Given the description of an element on the screen output the (x, y) to click on. 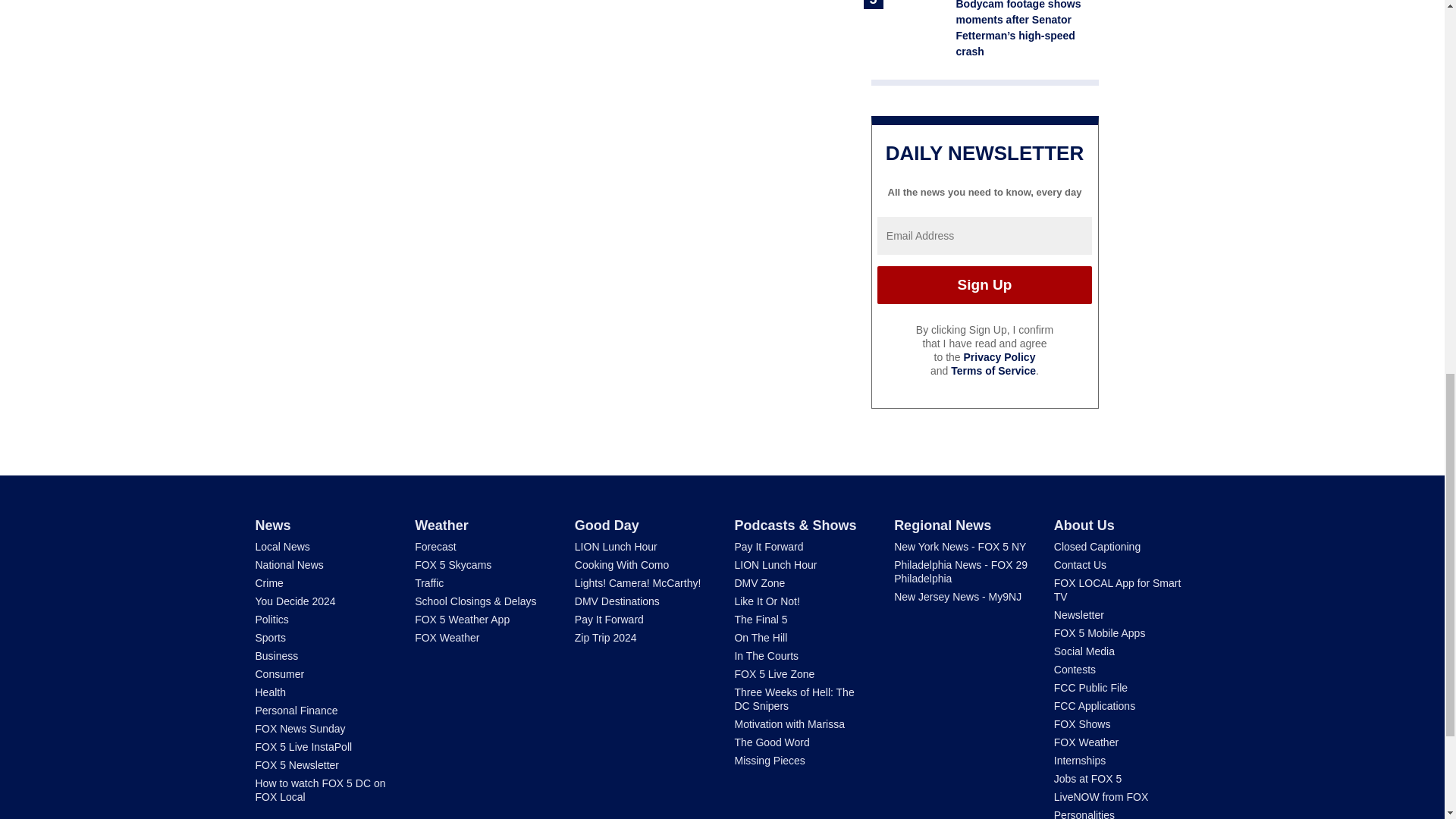
Sign Up (984, 284)
